Given the description of an element on the screen output the (x, y) to click on. 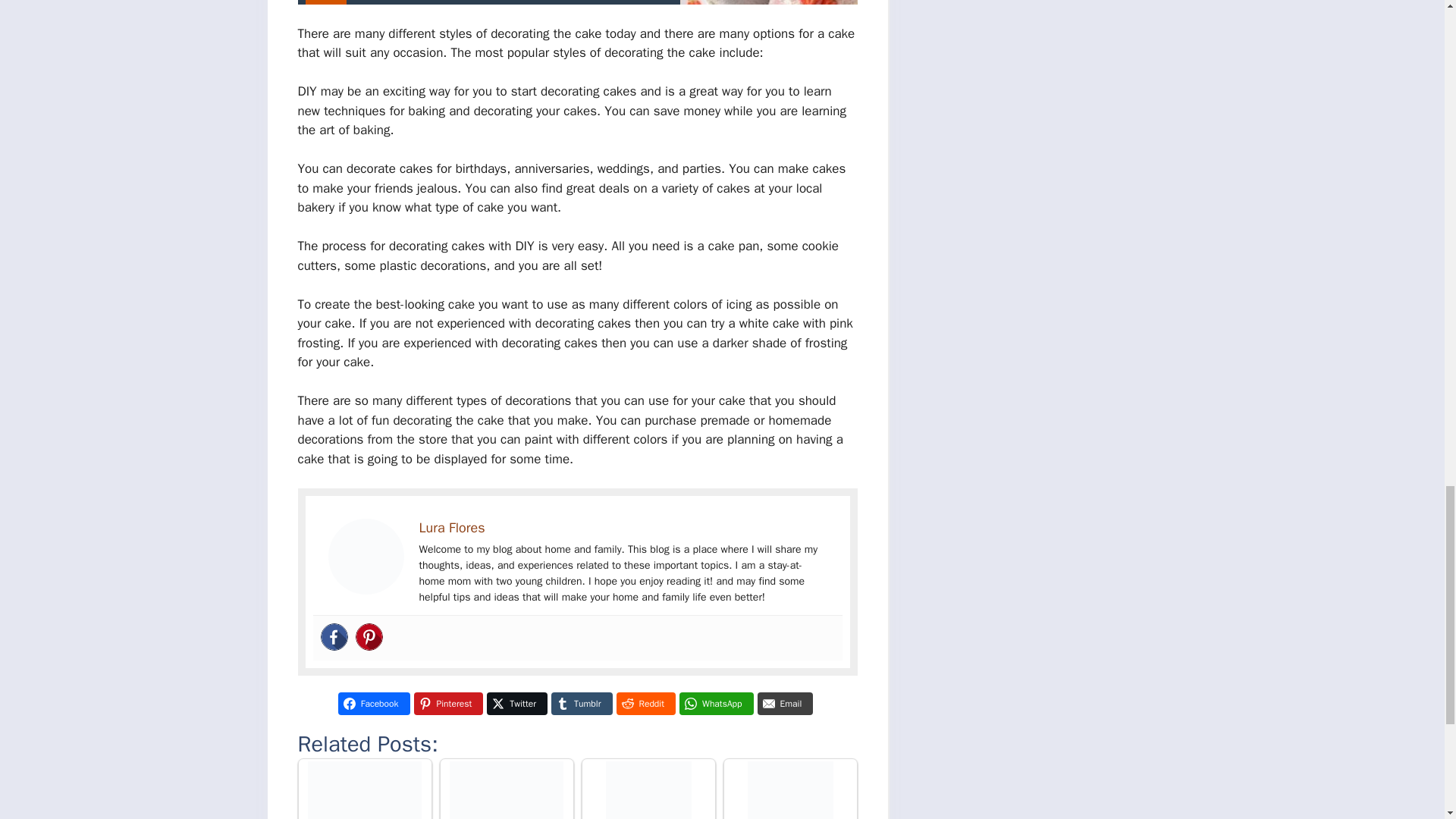
How to Decorate Your Cake - Tips For Perfect Decorating (790, 790)
Pinterest (368, 636)
Share on Twitter (516, 703)
Share on Pinterest (448, 703)
Share on Tumblr (581, 703)
Share on Reddit (645, 703)
Facebook (333, 636)
Outdoor Decor: Tips For Creating the Perfect Ambiance (364, 790)
